Given the description of an element on the screen output the (x, y) to click on. 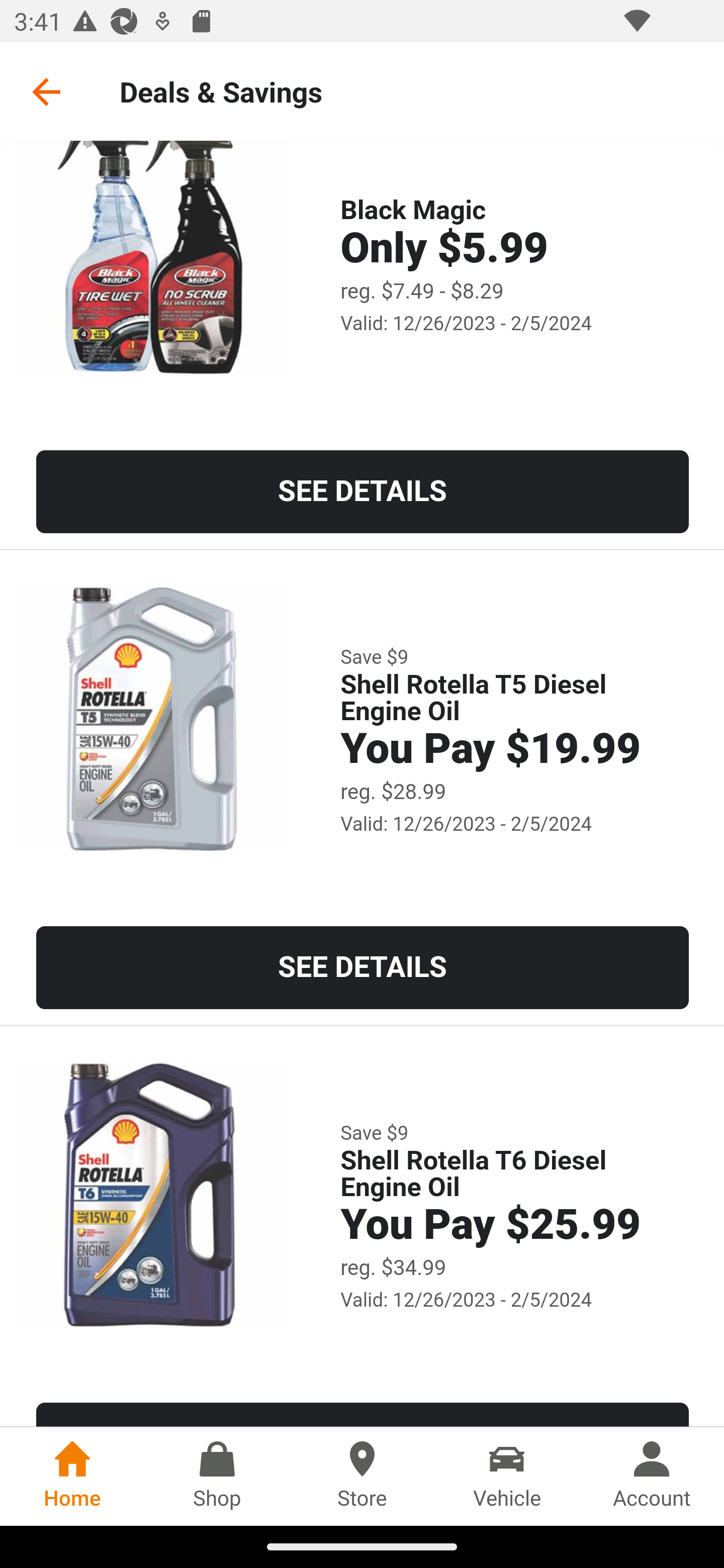
Go back (45, 91)
See Details on Black Magic offer SEE DETAILS (362, 492)
Home (72, 1475)
Shop (216, 1475)
Store (361, 1475)
Vehicle (506, 1475)
Account (651, 1475)
